Given the description of an element on the screen output the (x, y) to click on. 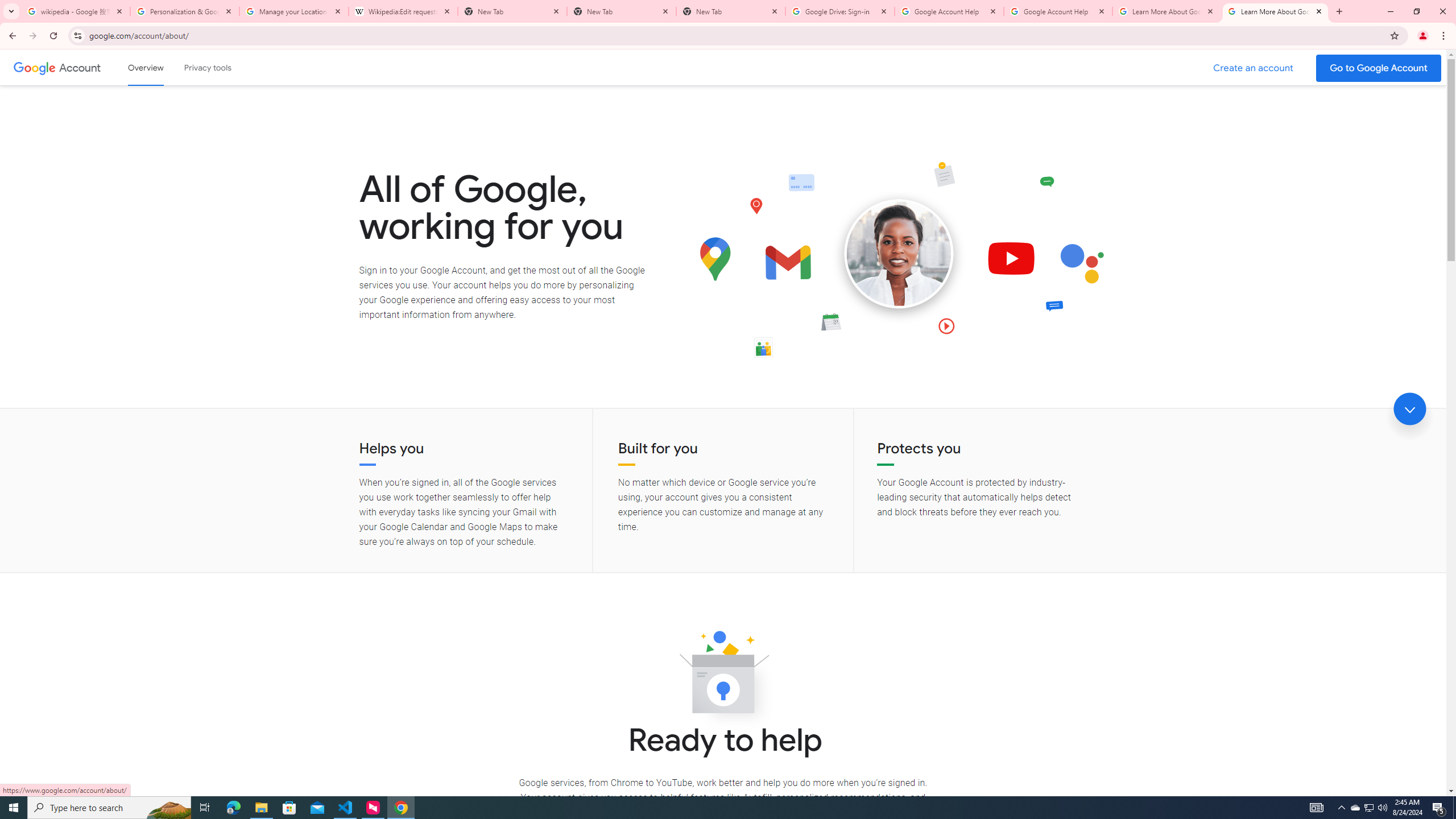
Google Account Help (949, 11)
Privacy tools (207, 67)
Jump link (1409, 408)
Personalization & Google Search results - Google Search Help (184, 11)
Ready to help (722, 675)
Google logo (34, 67)
Google Account overview (145, 67)
Manage your Location History - Google Search Help (293, 11)
